Given the description of an element on the screen output the (x, y) to click on. 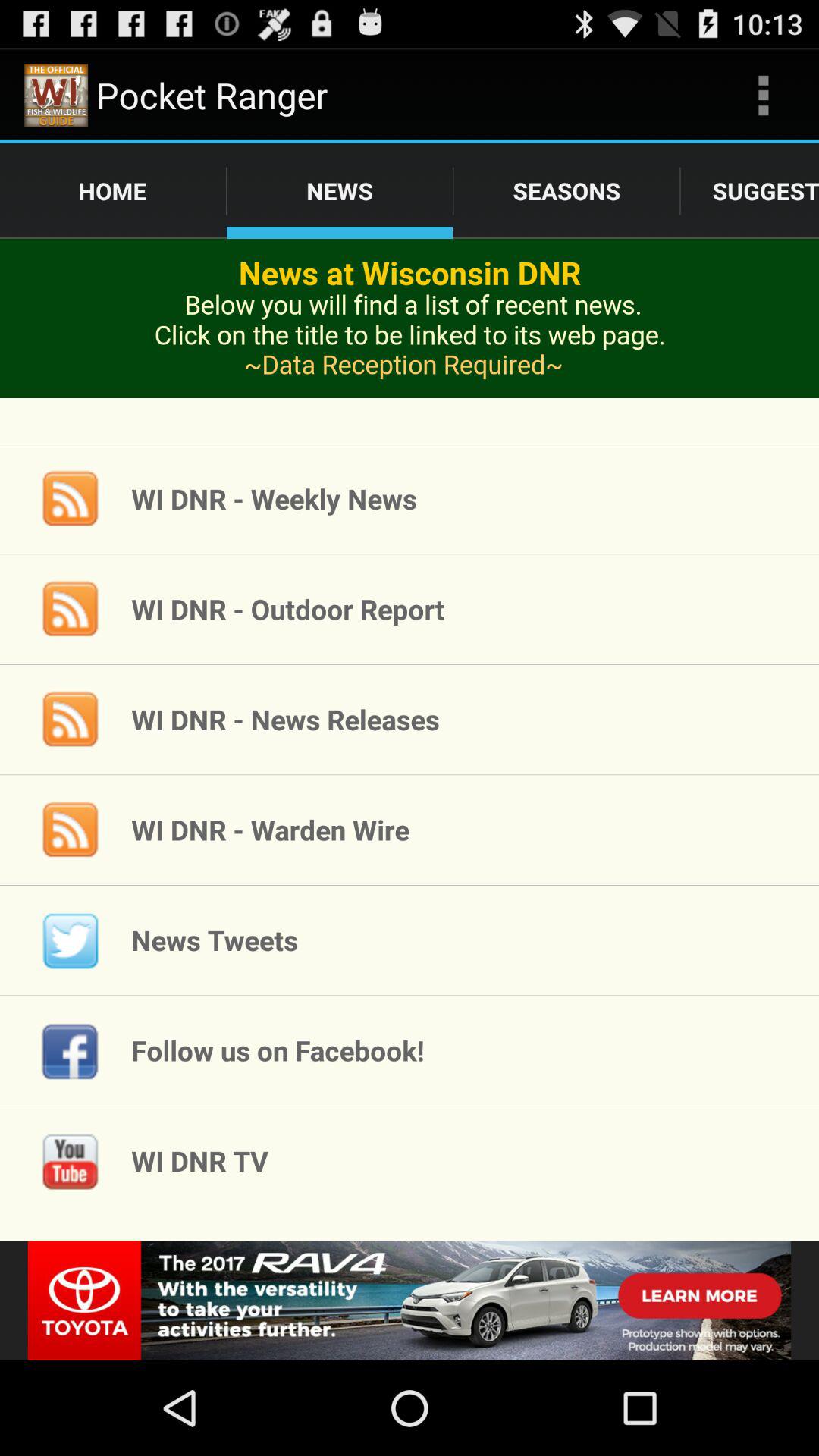
advertisement (409, 340)
